Given the description of an element on the screen output the (x, y) to click on. 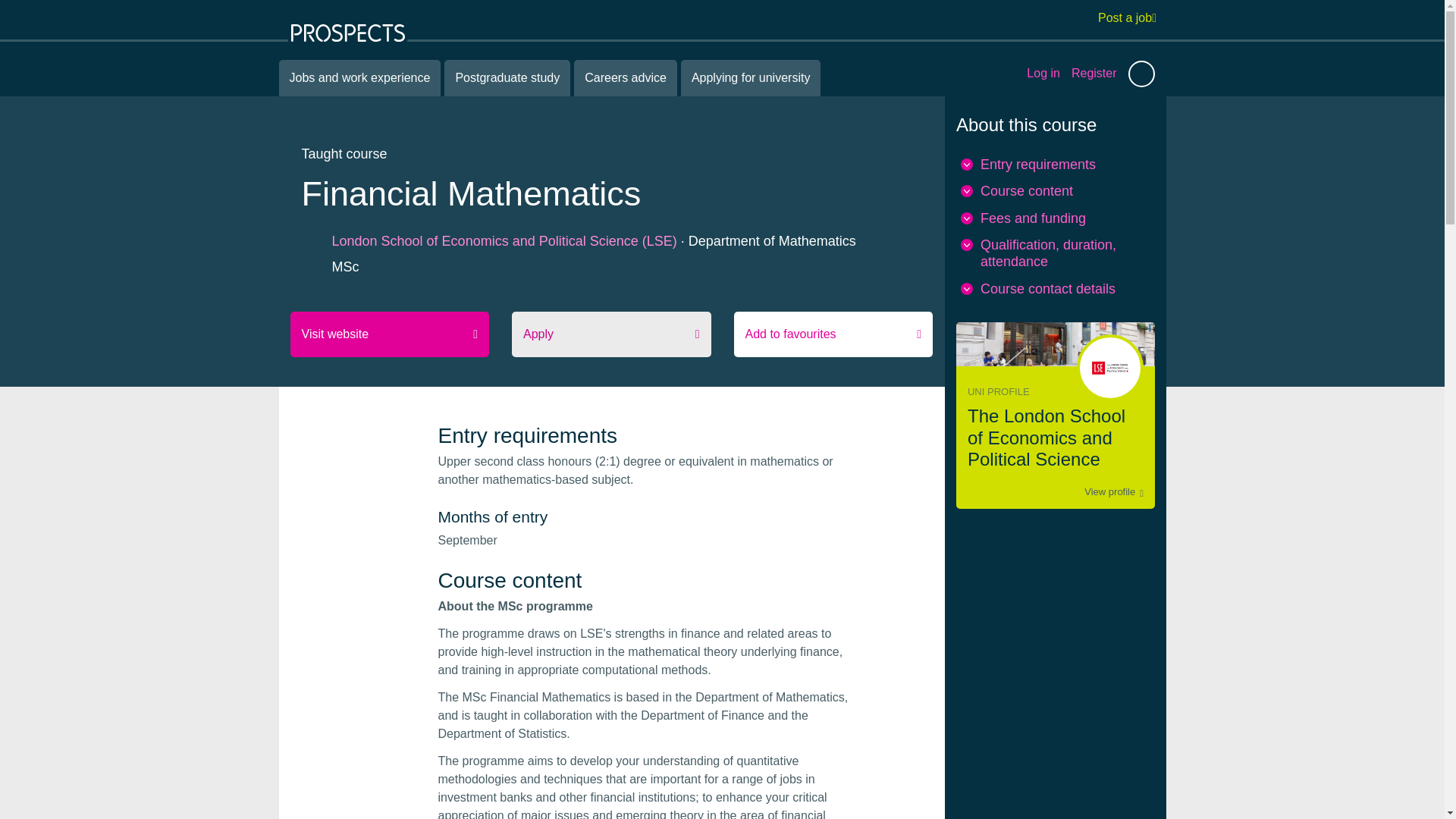
Applying for university (751, 77)
Site search (1141, 73)
Postgraduate study (507, 77)
Careers advice (625, 77)
Jobs and work experience (360, 77)
Post a job (1126, 18)
